Given the description of an element on the screen output the (x, y) to click on. 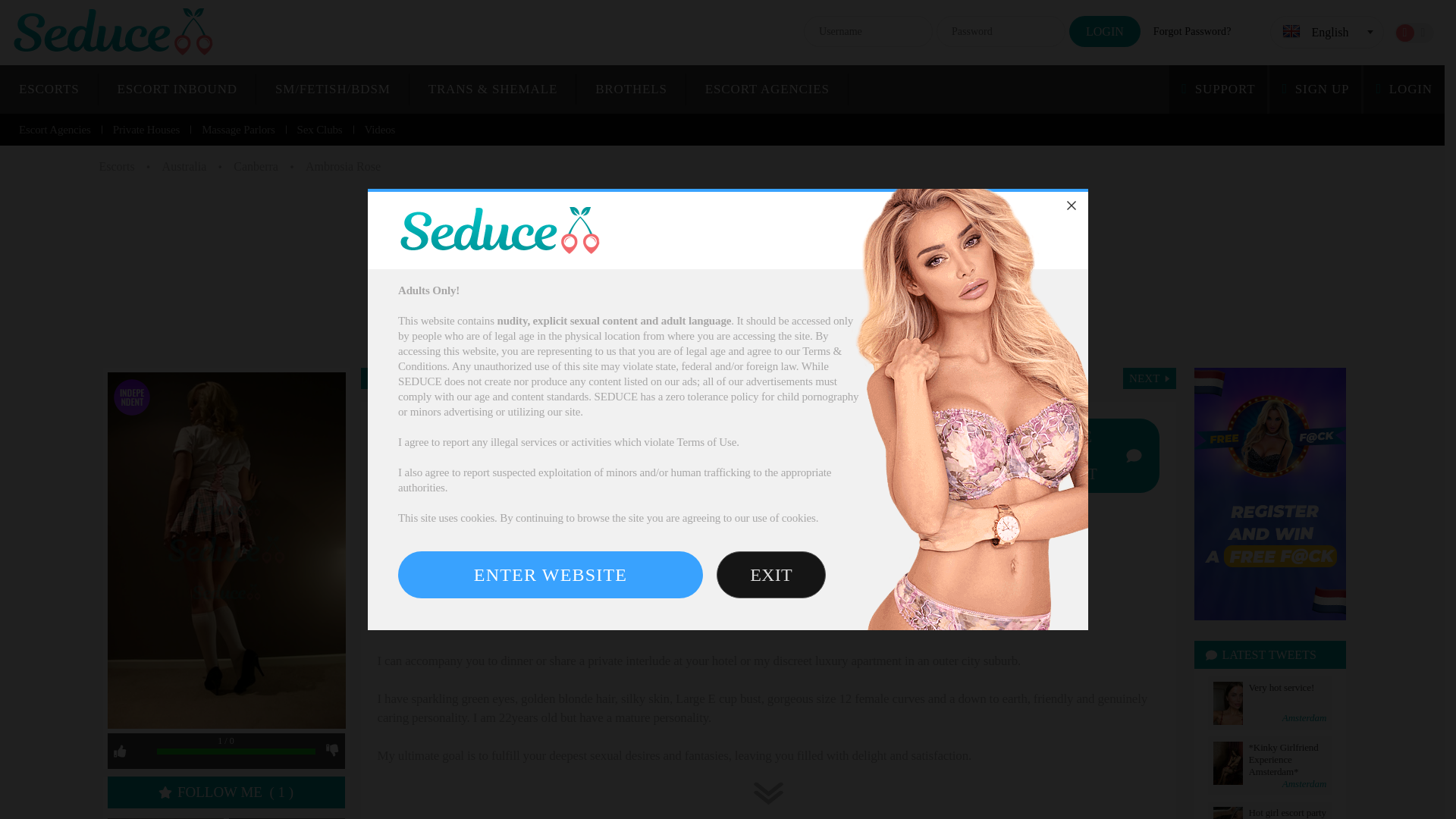
Canberra (255, 164)
Escort Agencies (766, 89)
Incall Escorts (177, 89)
Private Houses (145, 129)
Escorts (116, 164)
Login (1104, 30)
Videos (379, 129)
Sex Clubs (319, 129)
Sex Clubs (319, 129)
Massage Parlors (237, 129)
BROTHELS (630, 89)
ESCORT AGENCIES (766, 89)
Login (1104, 30)
ESCORT INBOUND (177, 89)
Escort Agencies (54, 129)
